Given the description of an element on the screen output the (x, y) to click on. 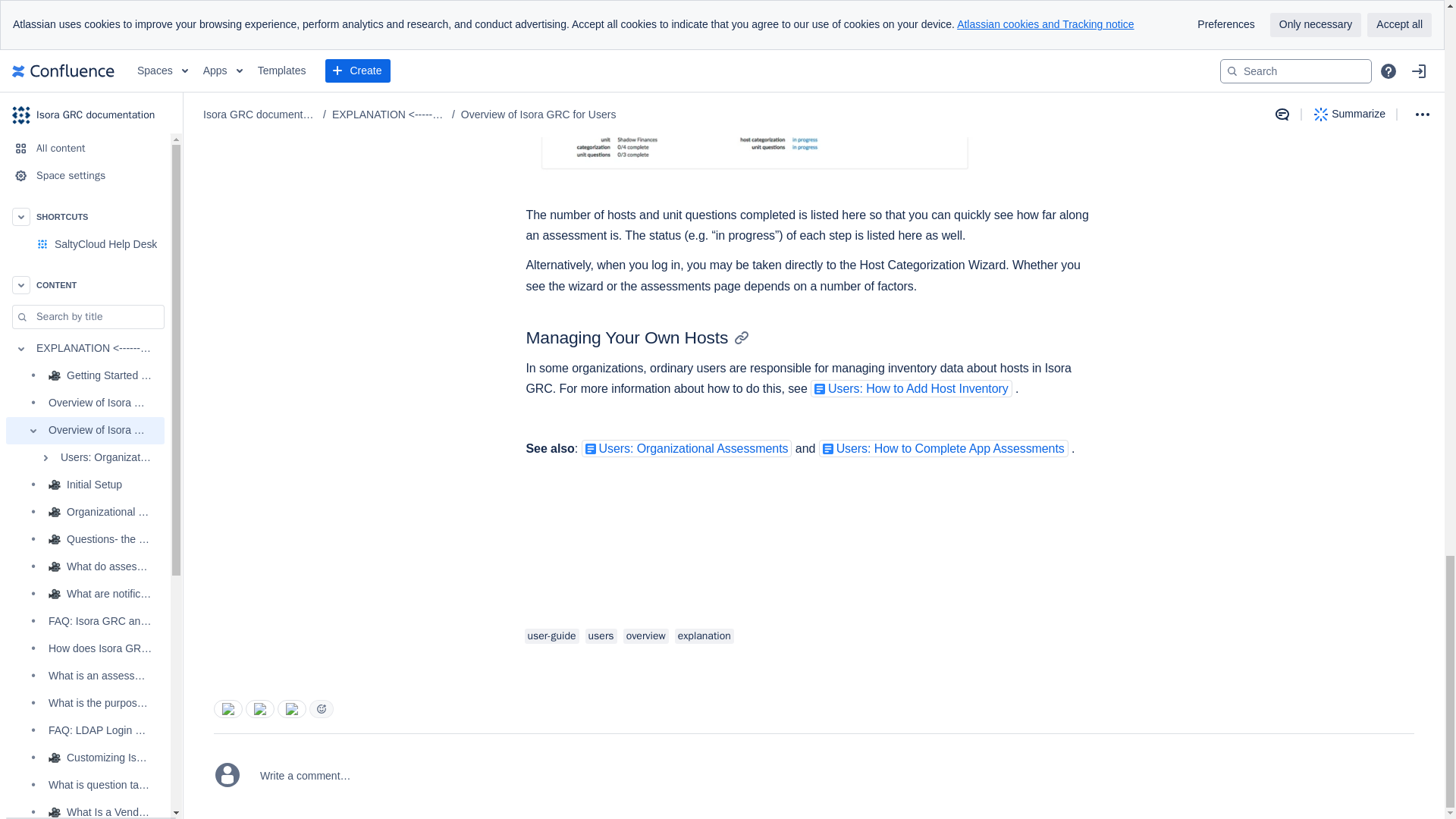
Add a Comment (832, 764)
